Given the description of an element on the screen output the (x, y) to click on. 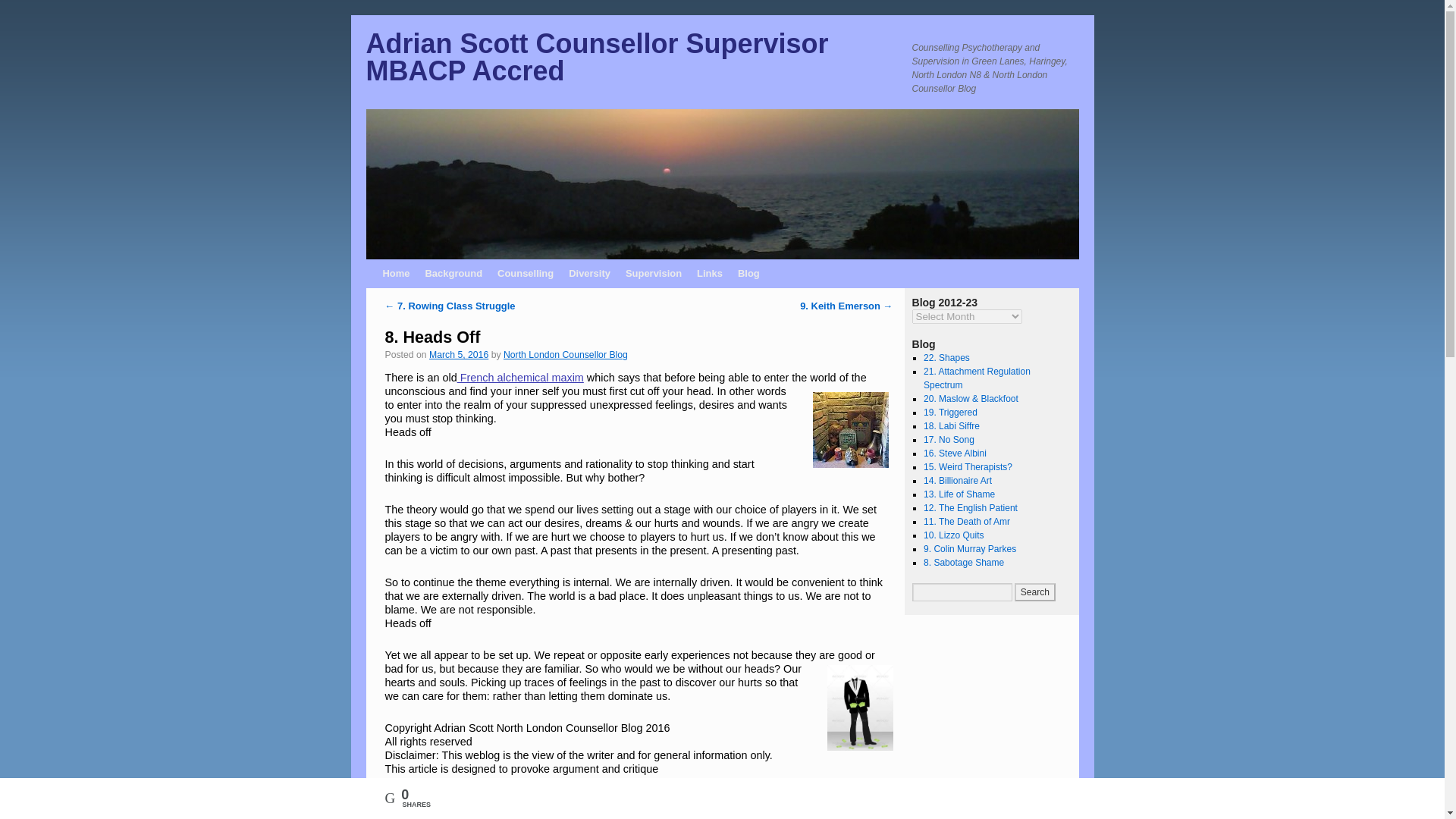
Supervision (652, 273)
7:42 pm (458, 354)
Blog (748, 273)
Links (709, 273)
Diversity (588, 273)
Counselling (524, 273)
North London Counsellor Blog (565, 354)
Home (395, 273)
Adrian Scott Counsellor Supervisor MBACP Accred (596, 56)
March 5, 2016 (458, 354)
